Given the description of an element on the screen output the (x, y) to click on. 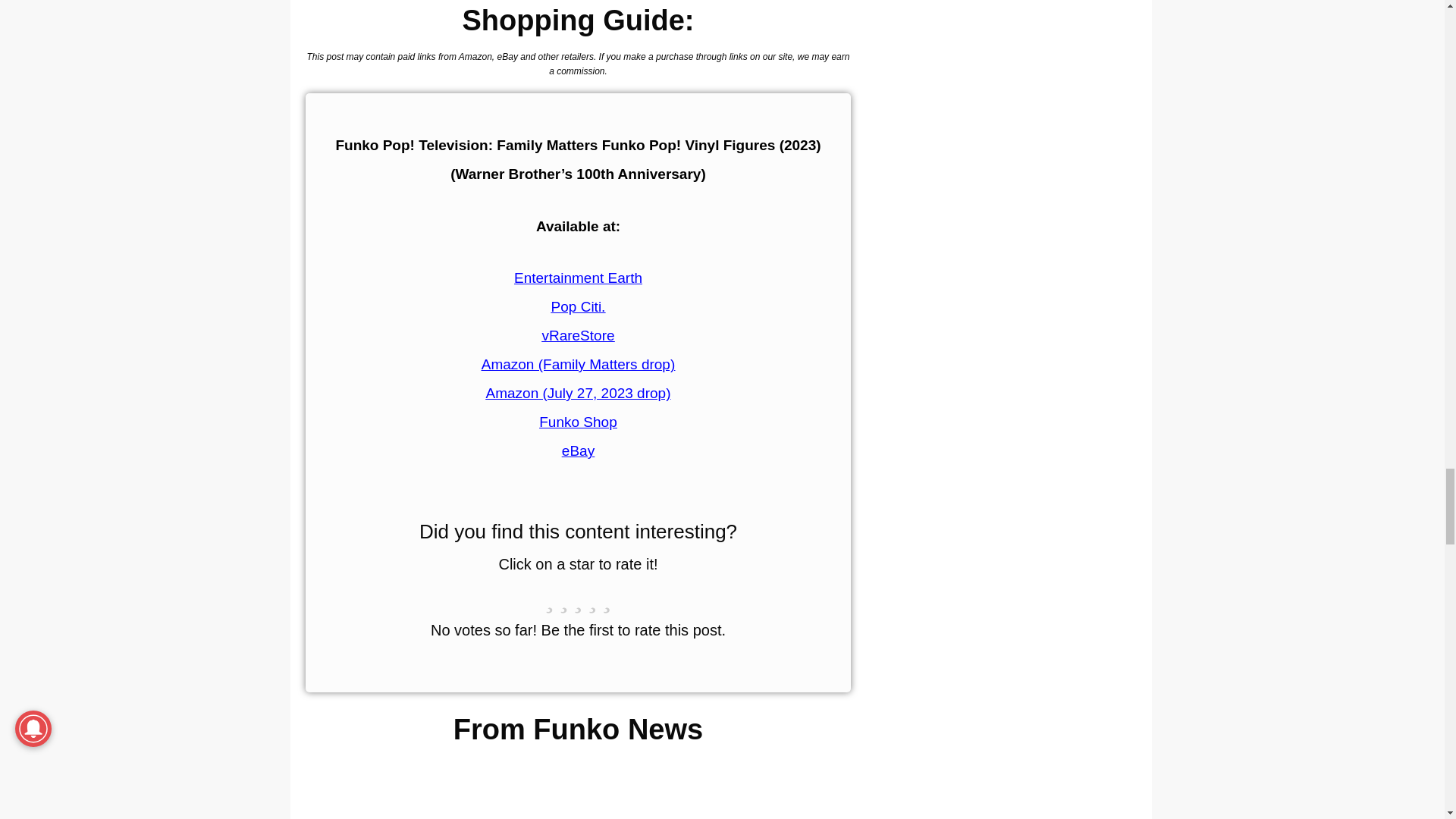
Shopping Guide: (577, 20)
Pop Citi. (578, 306)
Entertainment Earth (577, 277)
